Given the description of an element on the screen output the (x, y) to click on. 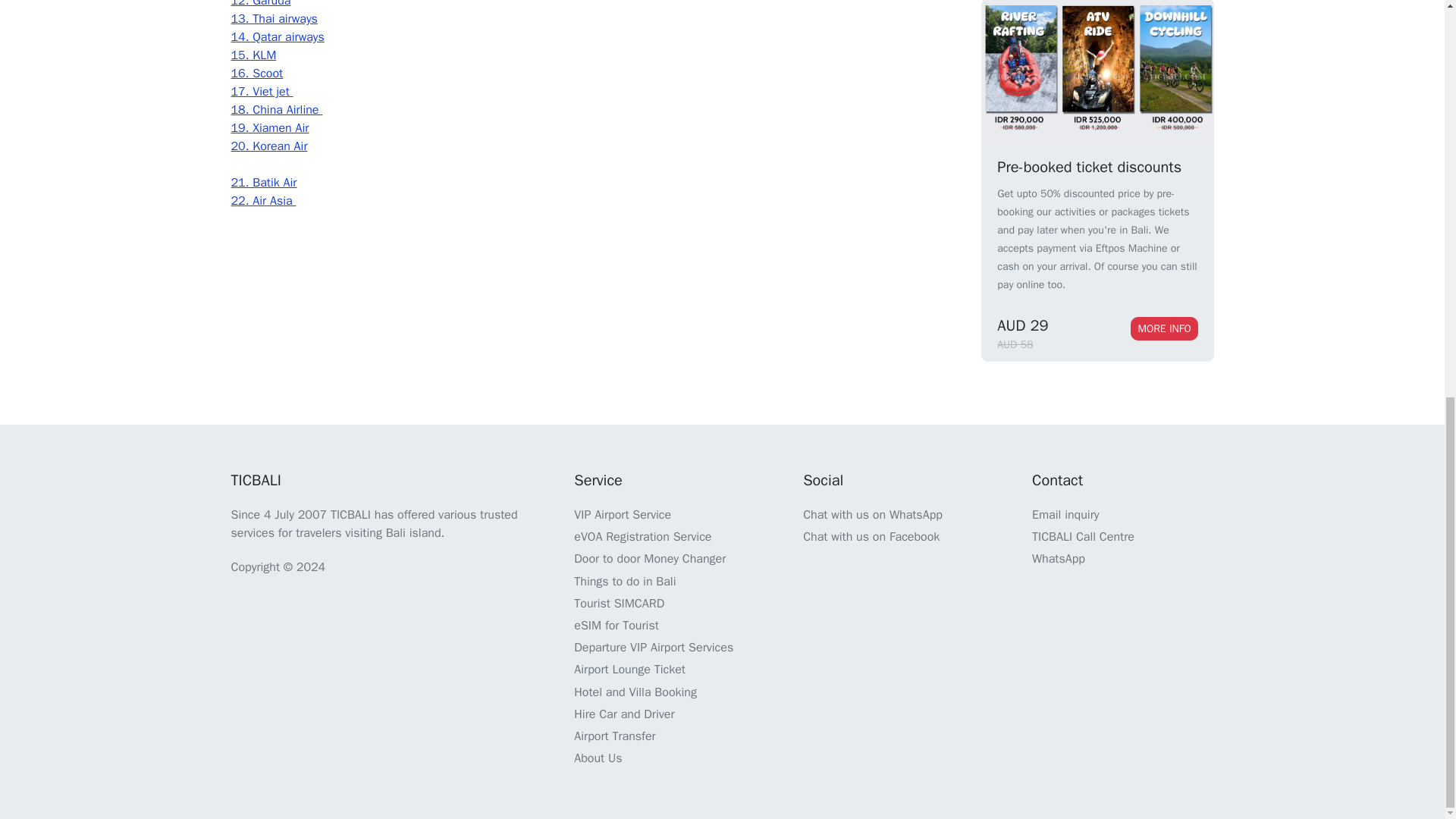
Tourist SIMCARD (618, 603)
TICBALI Call Centre (1083, 536)
Door to door Money Changer (649, 558)
Departure VIP Airport Services (653, 647)
Airport Transfer (614, 735)
Airport Lounge Ticket (629, 669)
Chat with us on WhatsApp (872, 514)
Hotel and Villa Booking (635, 692)
VIP Airport Service (622, 514)
eSIM for Tourist (616, 625)
WhatsApp (1058, 558)
eVOA Registration Service (642, 536)
Chat with us on Facebook (871, 536)
MORE INFO (1163, 328)
About Us (597, 758)
